Given the description of an element on the screen output the (x, y) to click on. 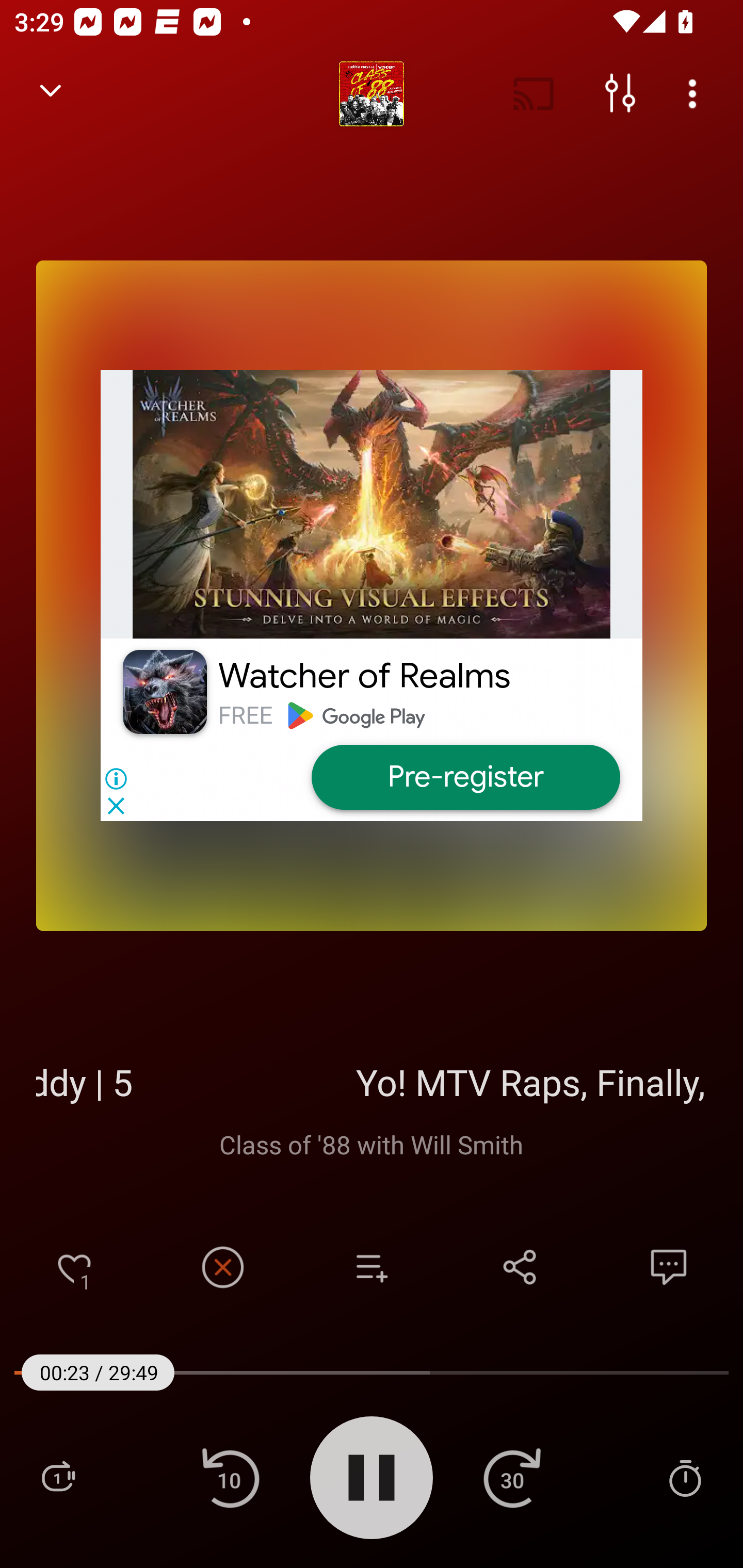
Cast. Disconnected (533, 93)
 Back (50, 94)
Watcher of Realms (364, 675)
FREE (245, 714)
Pre-register (464, 777)
Yo! MTV Raps, Finally, with Fab 5 Freddy | 5 (371, 1081)
Class of '88 with Will Smith (371, 1144)
Comments (668, 1266)
Add to Favorites (73, 1266)
Add to playlist (371, 1266)
Share (519, 1266)
 Playlist (57, 1477)
Sleep Timer  (684, 1477)
